Given the description of an element on the screen output the (x, y) to click on. 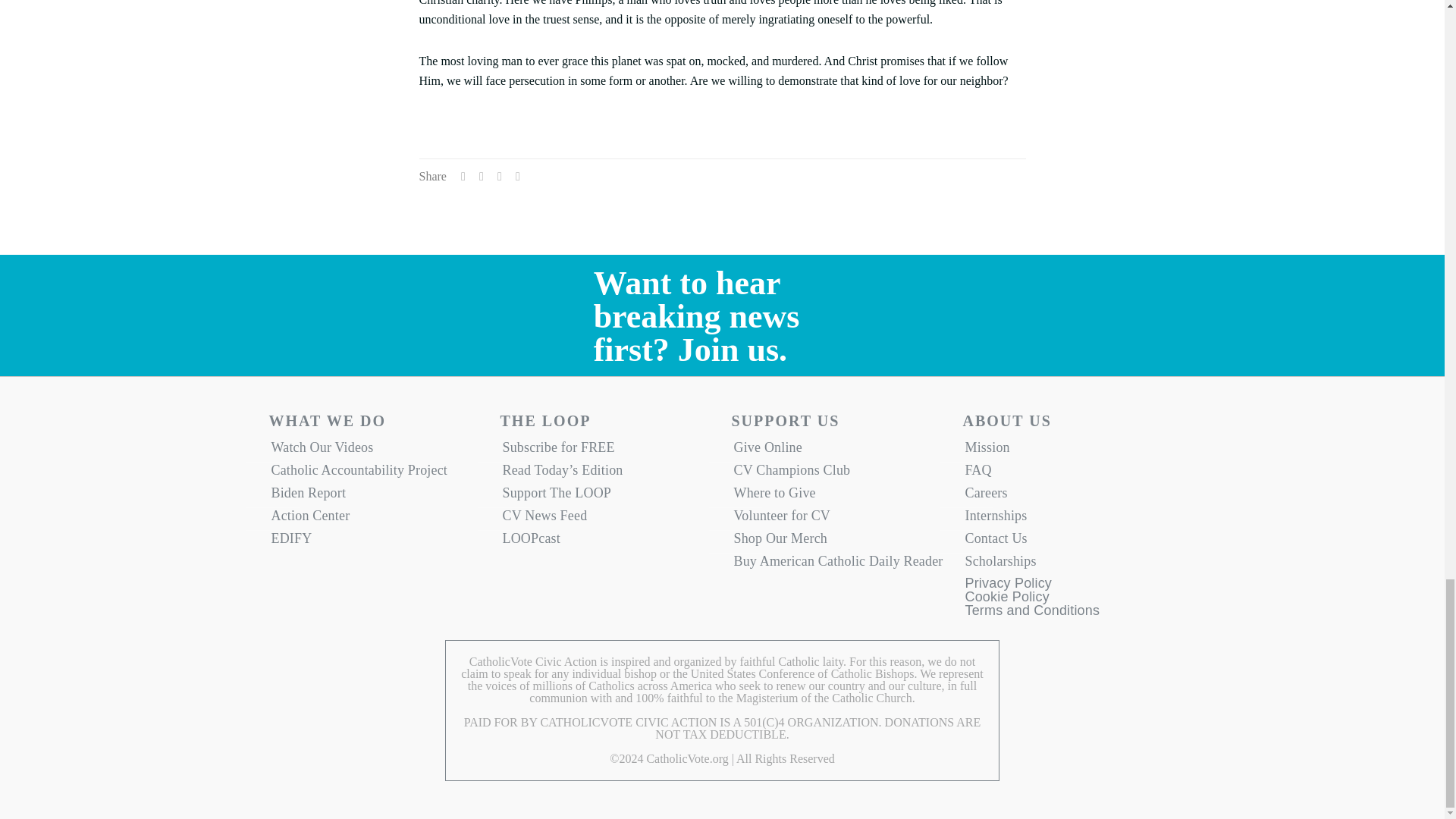
Watch Our Videos (374, 450)
Cookie Policy  (1005, 600)
Catholic Accountability Project (374, 473)
Where to Give (836, 496)
CV Champions Club (836, 473)
Privacy Policy  (1007, 586)
Give Online (836, 450)
EDIFY (374, 541)
Subscribe for FREE (606, 450)
LOOPcast (606, 541)
Terms and Conditions  (1031, 613)
Action Center (374, 518)
CV News Feed (606, 518)
Biden Report (374, 496)
Support The LOOP (606, 496)
